Given the description of an element on the screen output the (x, y) to click on. 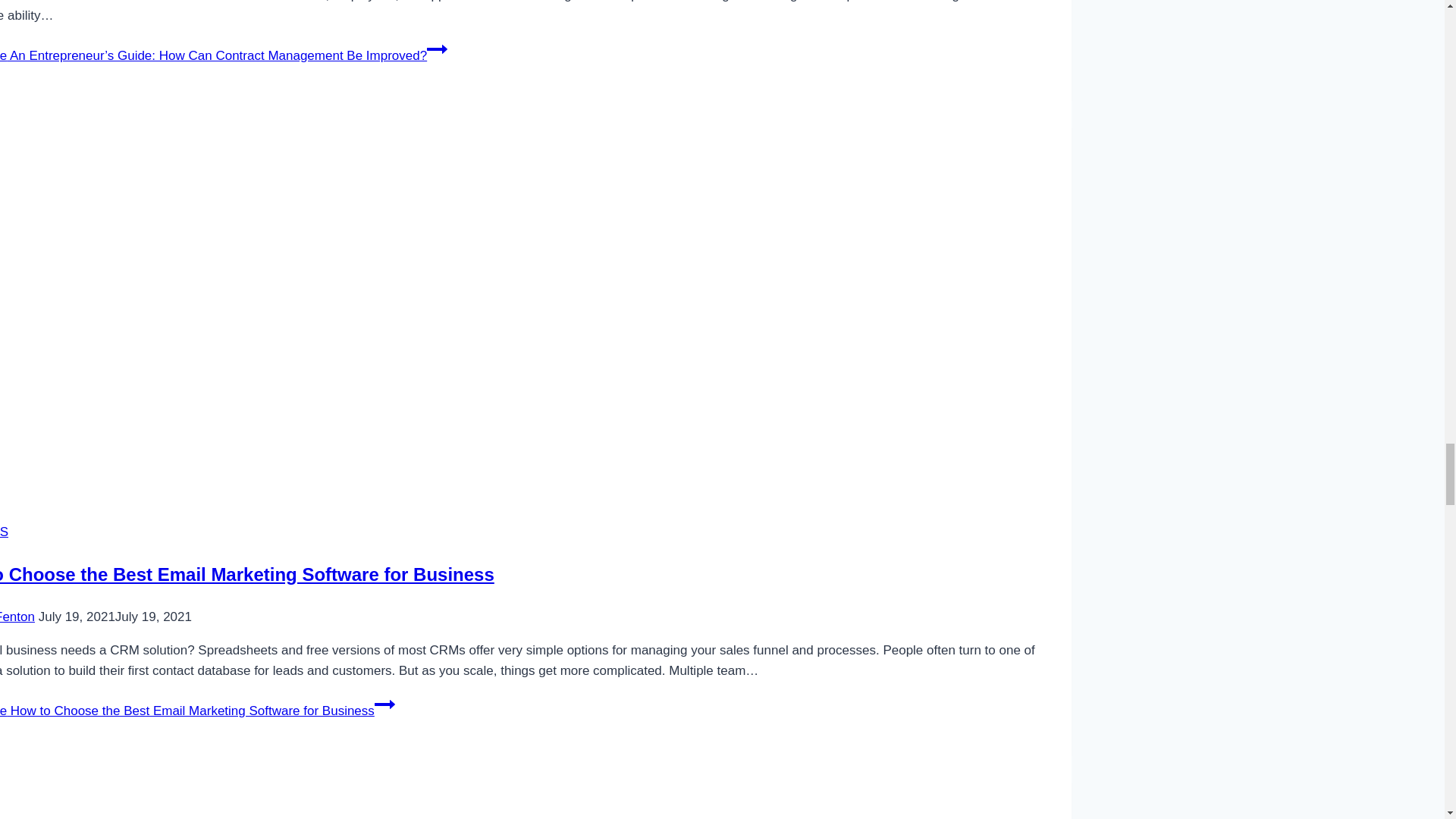
How Big the US Economy Is (250, 788)
Continue (436, 48)
